Given the description of an element on the screen output the (x, y) to click on. 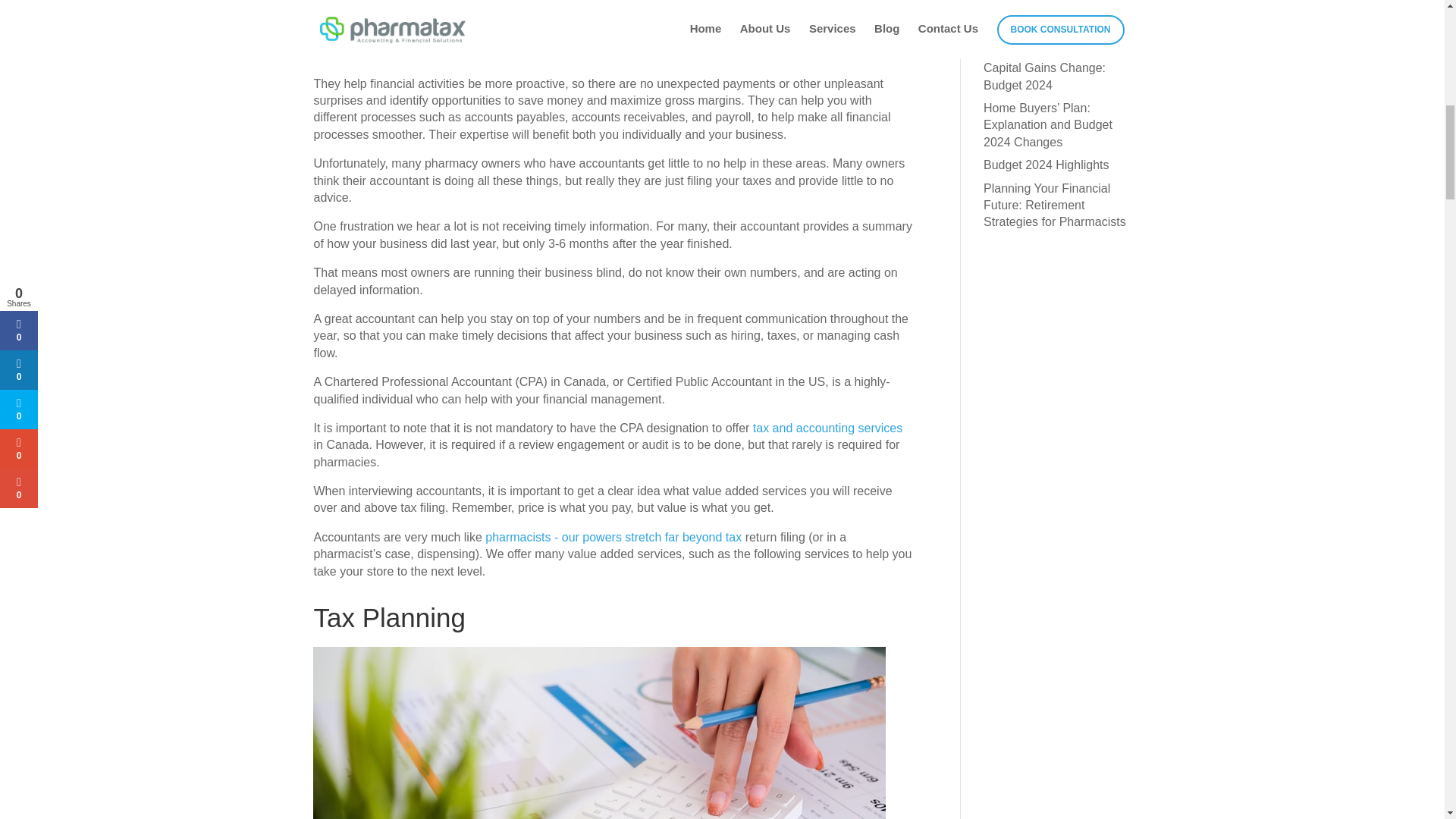
tax and accounting services (827, 427)
pharmacists - our powers stretch far beyond tax (612, 536)
Close up Accountants use calculator analysis financial (599, 733)
